Given the description of an element on the screen output the (x, y) to click on. 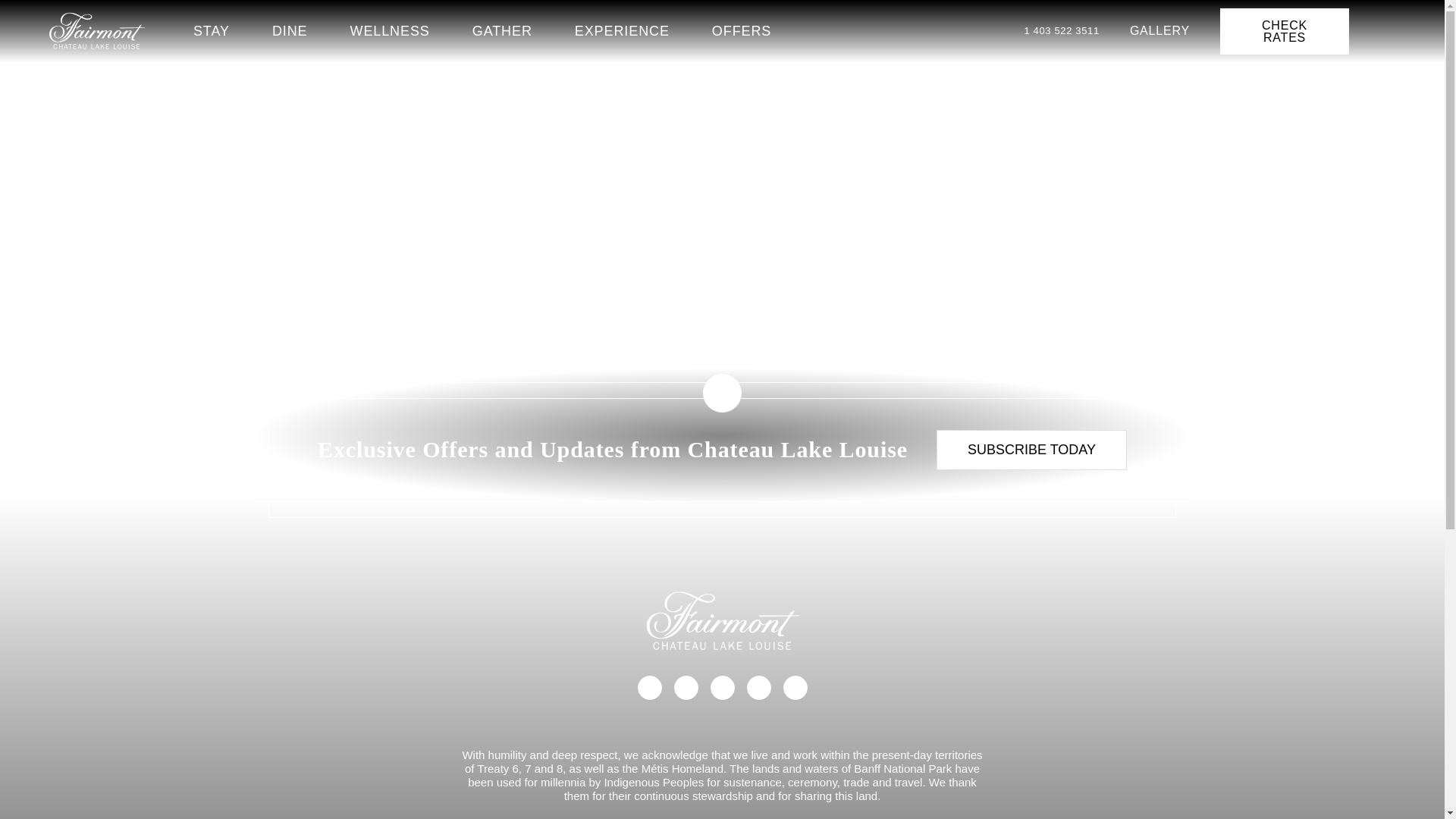
STAY (211, 30)
WELLNESS (389, 30)
DINE (289, 30)
